Given the description of an element on the screen output the (x, y) to click on. 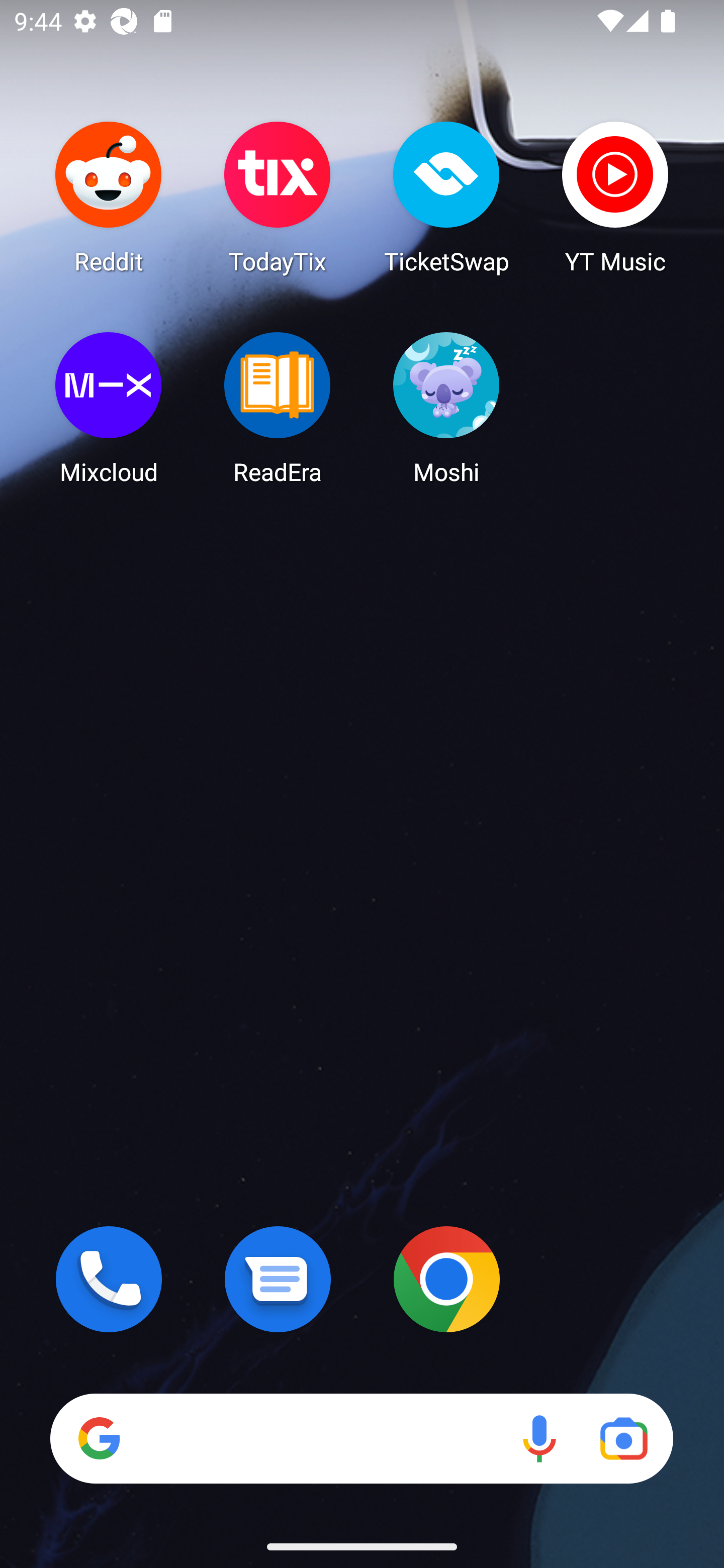
Reddit (108, 196)
TodayTix (277, 196)
TicketSwap (445, 196)
YT Music (615, 196)
Mixcloud (108, 407)
ReadEra (277, 407)
Moshi (445, 407)
Phone (108, 1279)
Messages (277, 1279)
Chrome (446, 1279)
Voice search (539, 1438)
Google Lens (623, 1438)
